Given the description of an element on the screen output the (x, y) to click on. 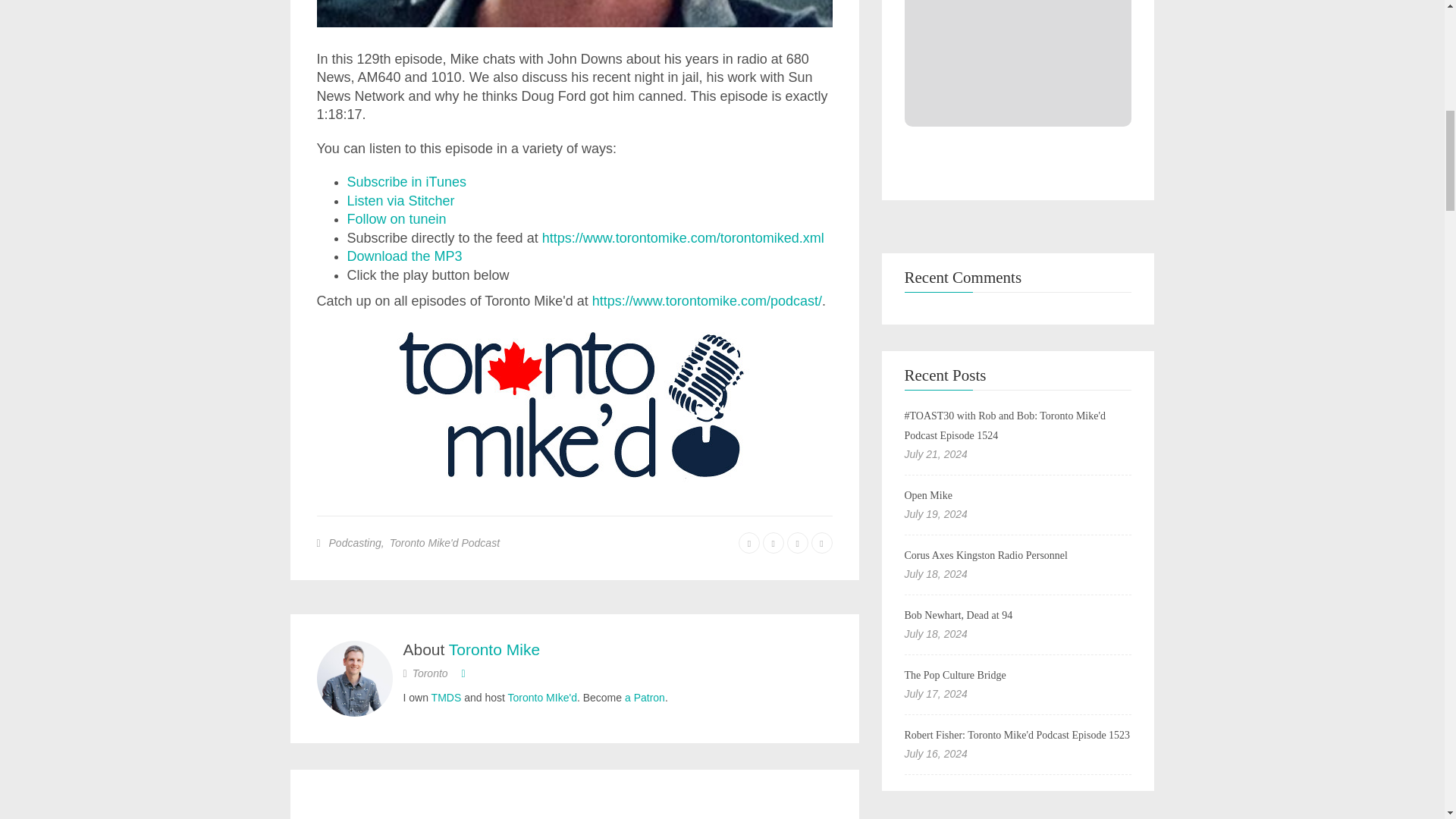
Podcasting (355, 542)
Toronto MIke'd (542, 697)
Toronto Mike (494, 648)
TMDS (445, 697)
Subscribe in iTunes (406, 181)
Listen via Stitcher (400, 200)
Download the MP3 (405, 255)
Follow on tunein (396, 218)
Toronto Mike'd Podcast (444, 542)
a Patron (644, 697)
